Given the description of an element on the screen output the (x, y) to click on. 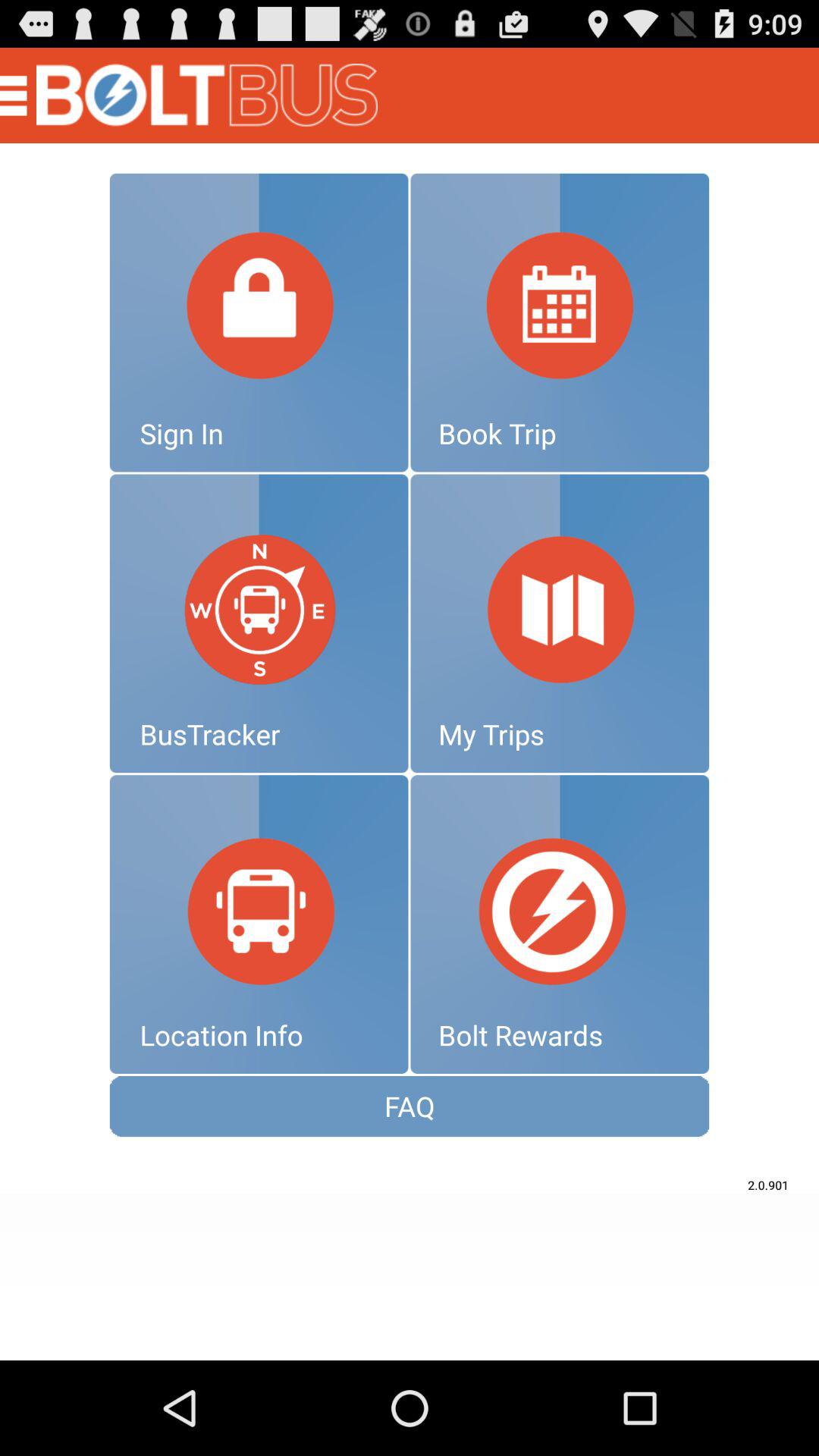
book trip date (559, 322)
